Given the description of an element on the screen output the (x, y) to click on. 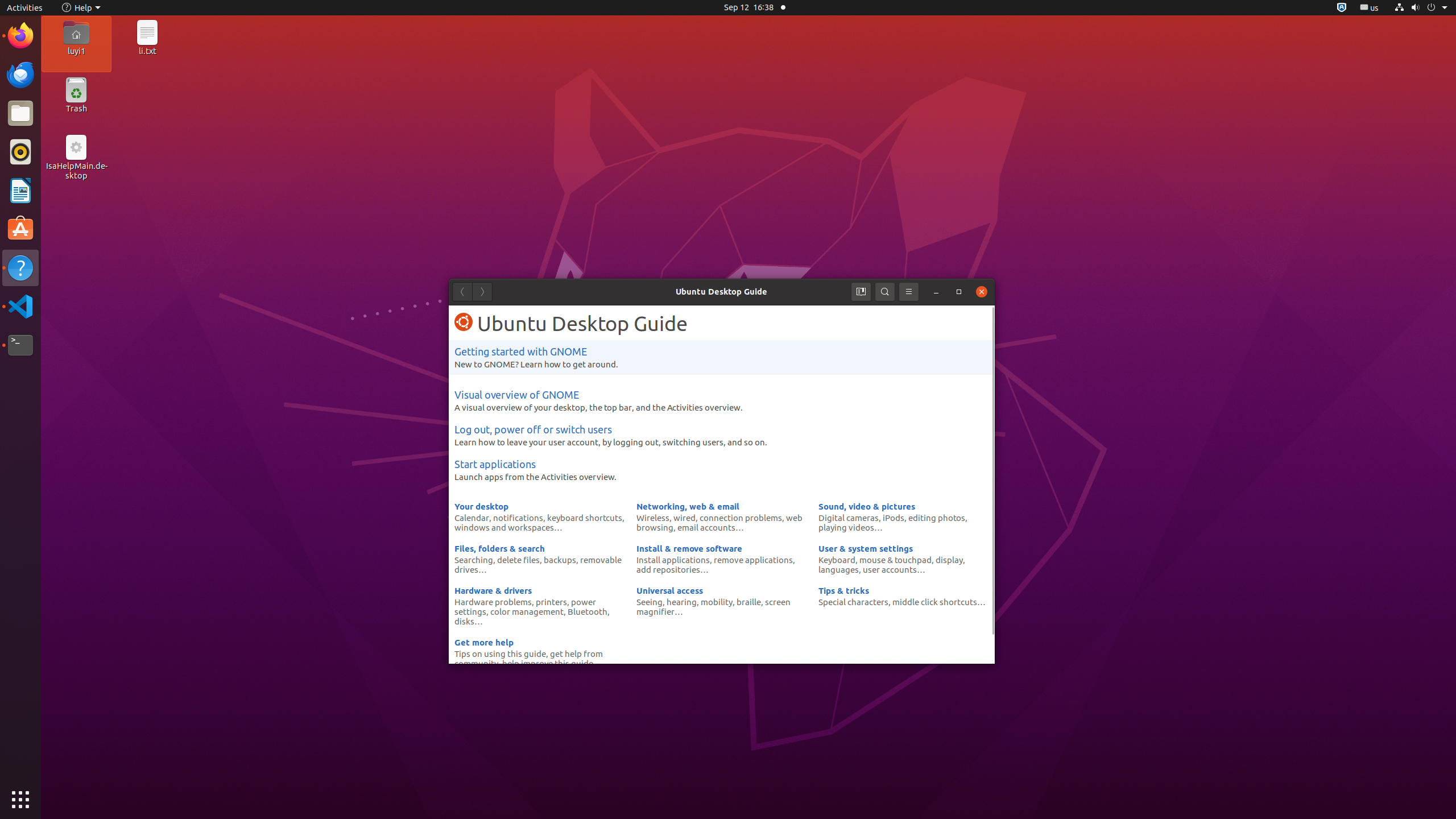
keyboard shortcuts Element type: link (584, 517)
li.txt Element type: label (146, 50)
